Given the description of an element on the screen output the (x, y) to click on. 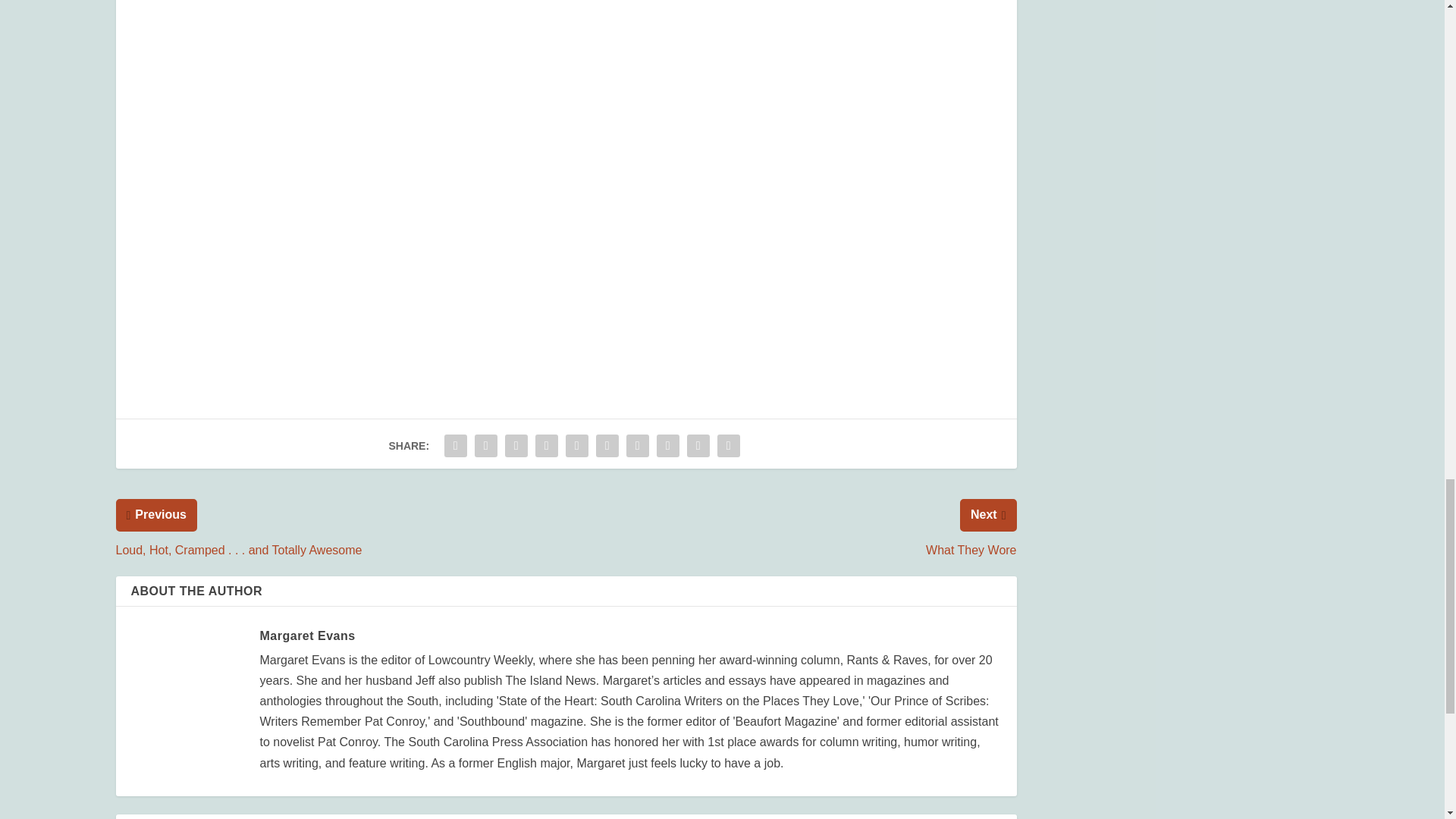
Share "Into the Wild Blue" via LinkedIn (607, 445)
Share "Into the Wild Blue" via Tumblr (546, 445)
Share "Into the Wild Blue" via Print (728, 445)
Share "Into the Wild Blue" via Email (697, 445)
Share "Into the Wild Blue" via Stumbleupon (667, 445)
Share "Into the Wild Blue" via Buffer (637, 445)
Share "Into the Wild Blue" via Facebook (455, 445)
View all posts by Margaret Evans (307, 635)
Share "Into the Wild Blue" via Twitter (485, 445)
Share "Into the Wild Blue" via Pinterest (577, 445)
